Given the description of an element on the screen output the (x, y) to click on. 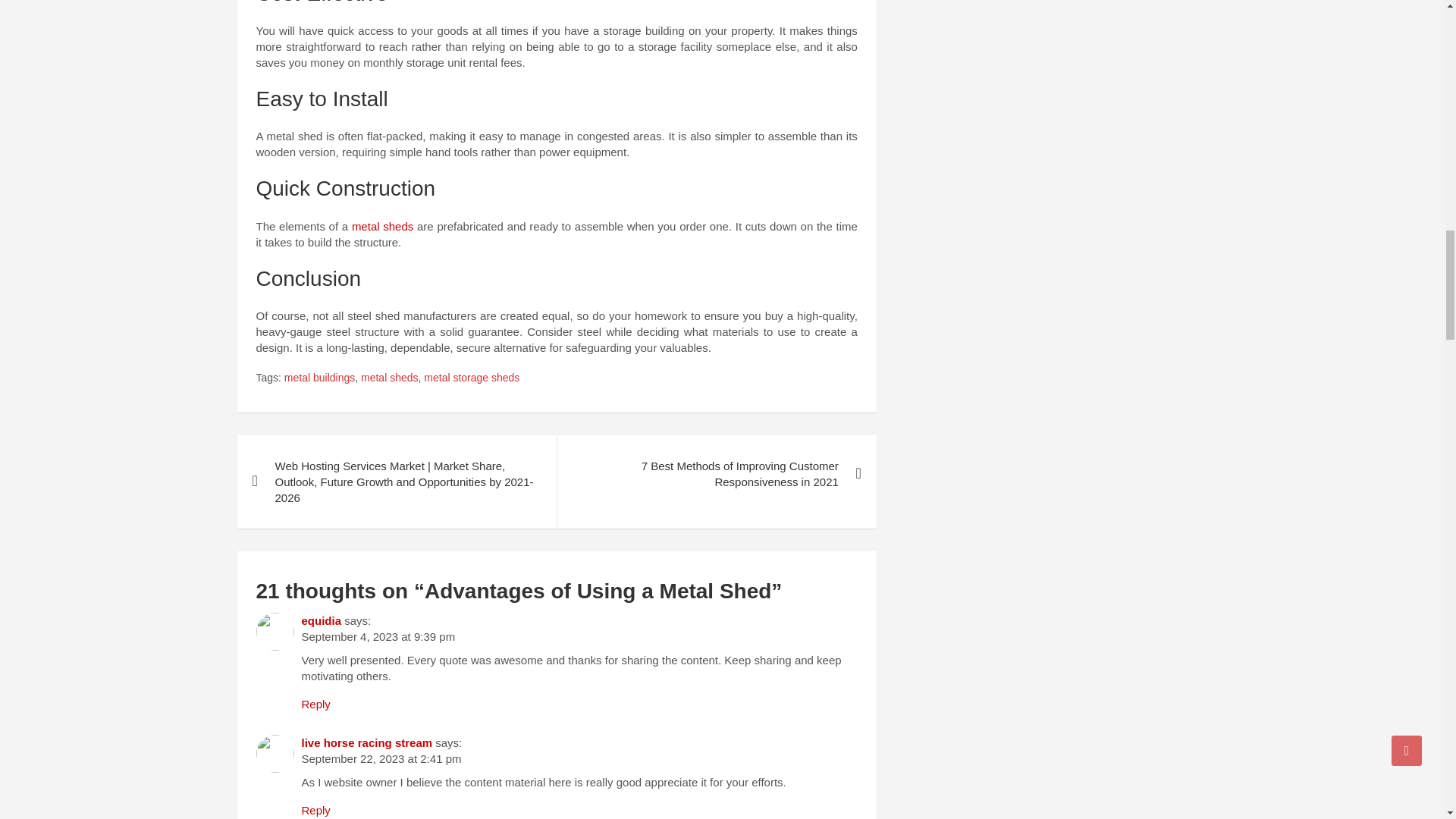
7 Best Methods of Improving Customer Responsiveness in 2021 (716, 473)
live horse racing stream (366, 742)
metal sheds (382, 226)
Reply (315, 809)
metal buildings (319, 378)
September 4, 2023 at 9:39 pm (378, 635)
Reply (315, 703)
metal sheds (389, 378)
equidia (321, 620)
metal storage sheds (471, 378)
